Given the description of an element on the screen output the (x, y) to click on. 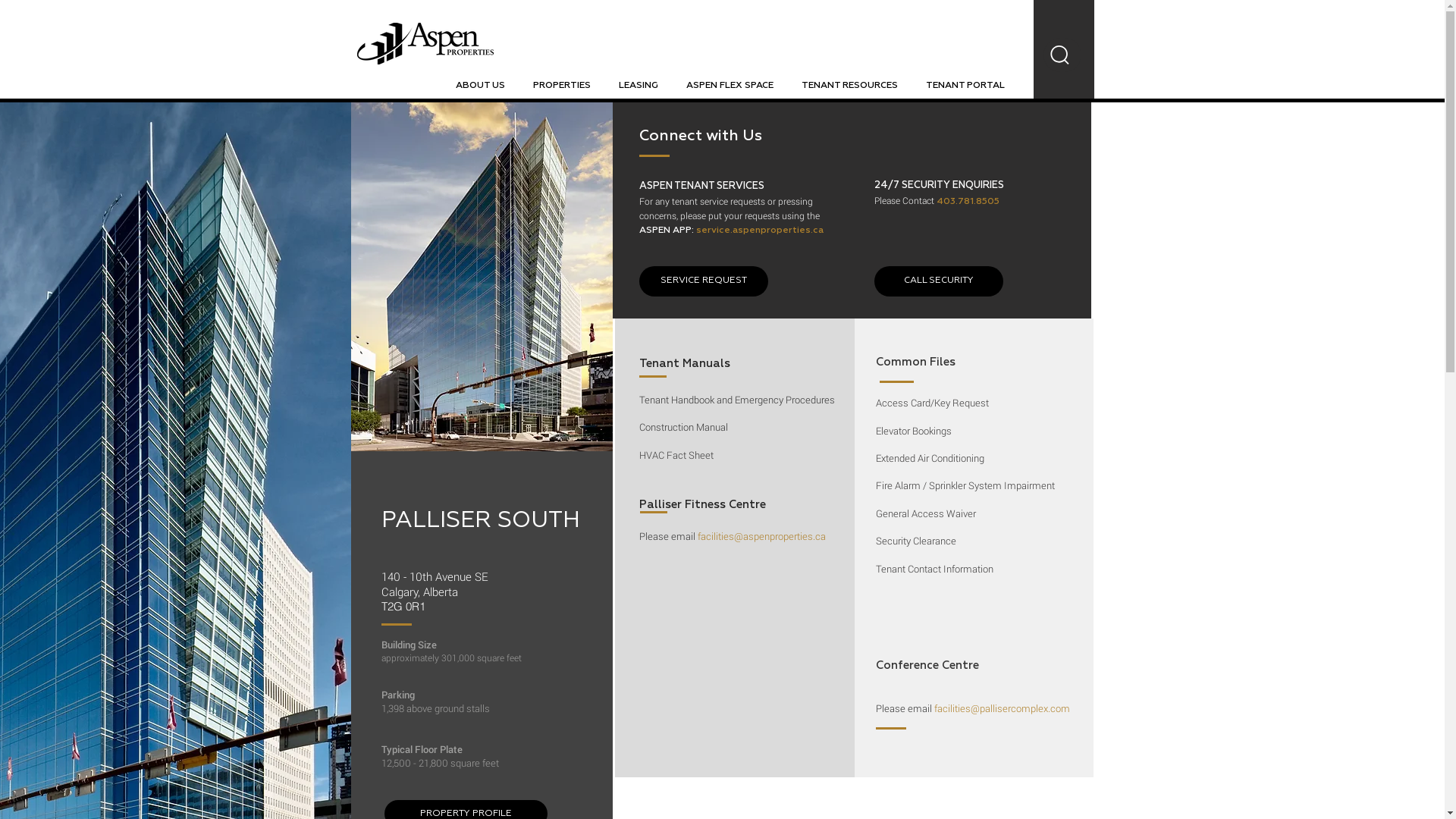
Construction Manual Element type: text (682, 426)
General Access Waiver Element type: text (925, 513)
ASPEN FLEX SPACE Element type: text (729, 84)
HVAC Fact Sheet Element type: text (675, 454)
Access Card/Key Request Element type: text (931, 402)
Security Clearance Element type: text (915, 540)
service.aspenproperties.ca Element type: text (759, 228)
facilities@pallisercomplex.com Element type: text (1002, 708)
facilities@aspenproperties.ca Element type: text (761, 535)
Elevator Bookings Element type: text (912, 430)
TENANT RESOURCES Element type: text (849, 84)
Tenant Handbook and Emergency Procedures Element type: text (736, 399)
SERVICE REQUEST Element type: text (702, 280)
Extended Air Conditioning Element type: text (929, 457)
PROPERTIES Element type: text (561, 84)
CALL SECURITY Element type: text (937, 280)
Fire Alarm / Sprinkler System Impairment Element type: text (964, 485)
Tenant Contact Information Element type: text (933, 568)
TENANT PORTAL Element type: text (964, 84)
ABOUT US Element type: text (479, 84)
LEASING Element type: text (638, 84)
